Given the description of an element on the screen output the (x, y) to click on. 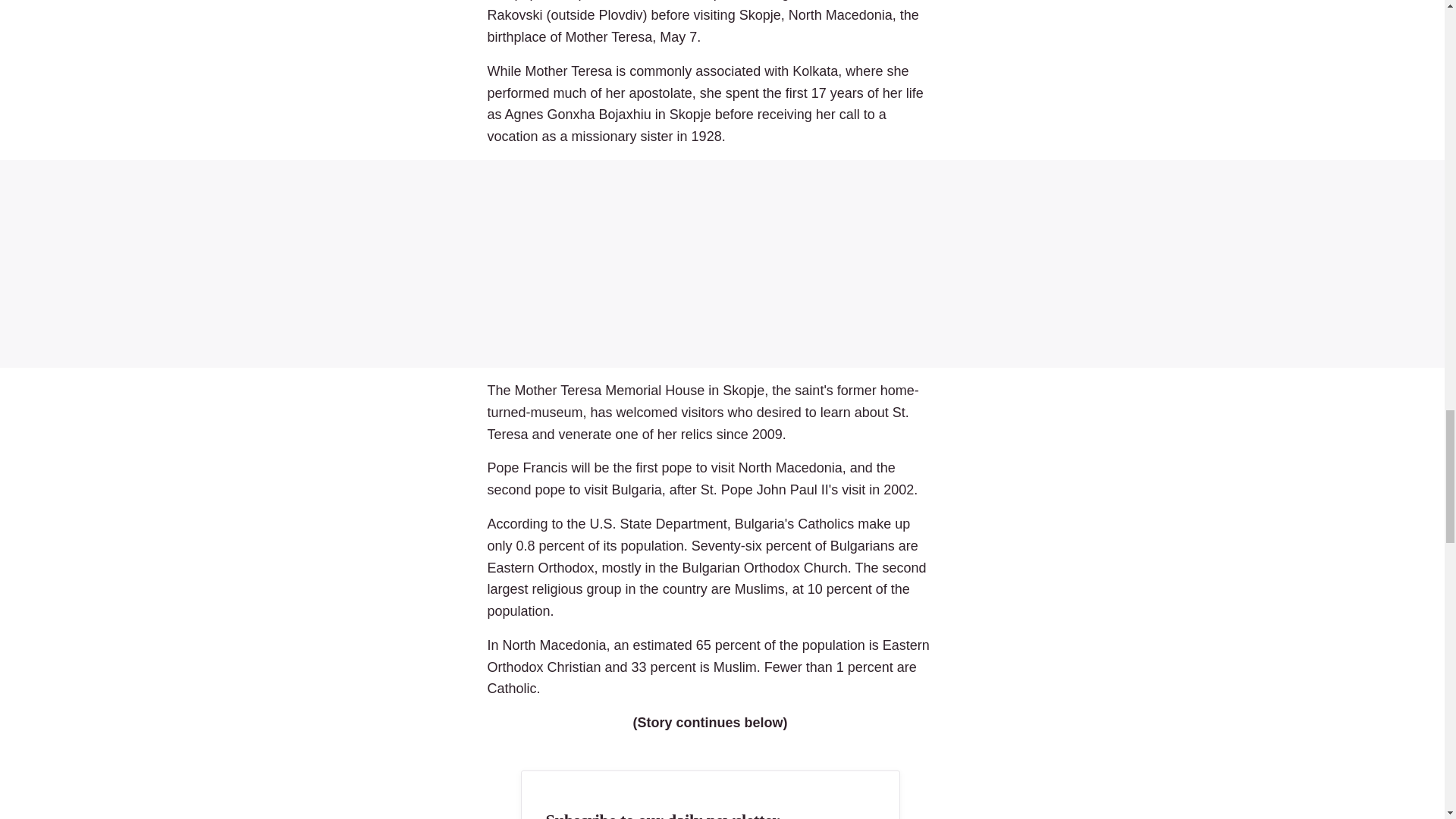
3rd party ad content (721, 263)
